Given the description of an element on the screen output the (x, y) to click on. 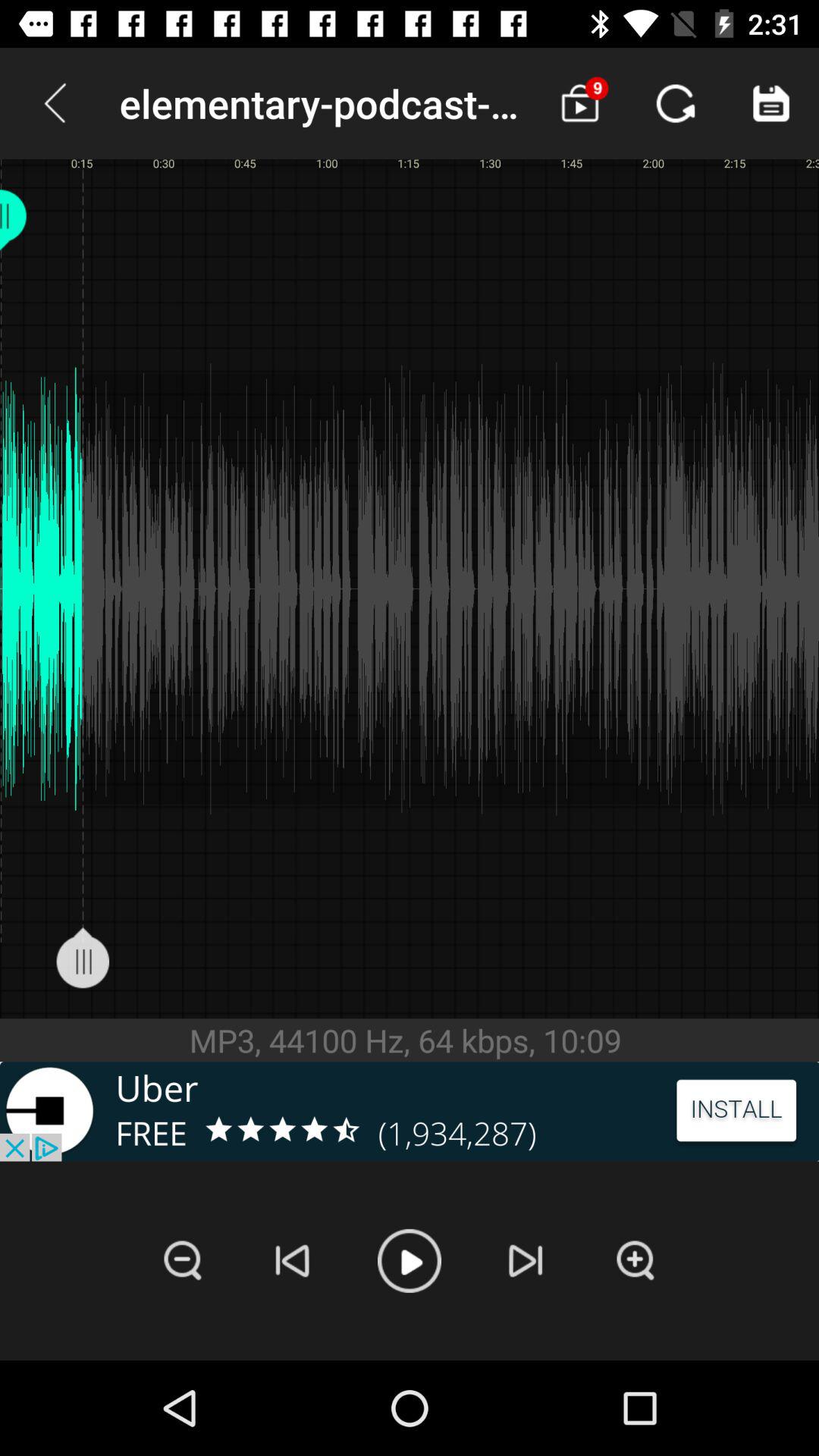
next track (526, 1260)
